Given the description of an element on the screen output the (x, y) to click on. 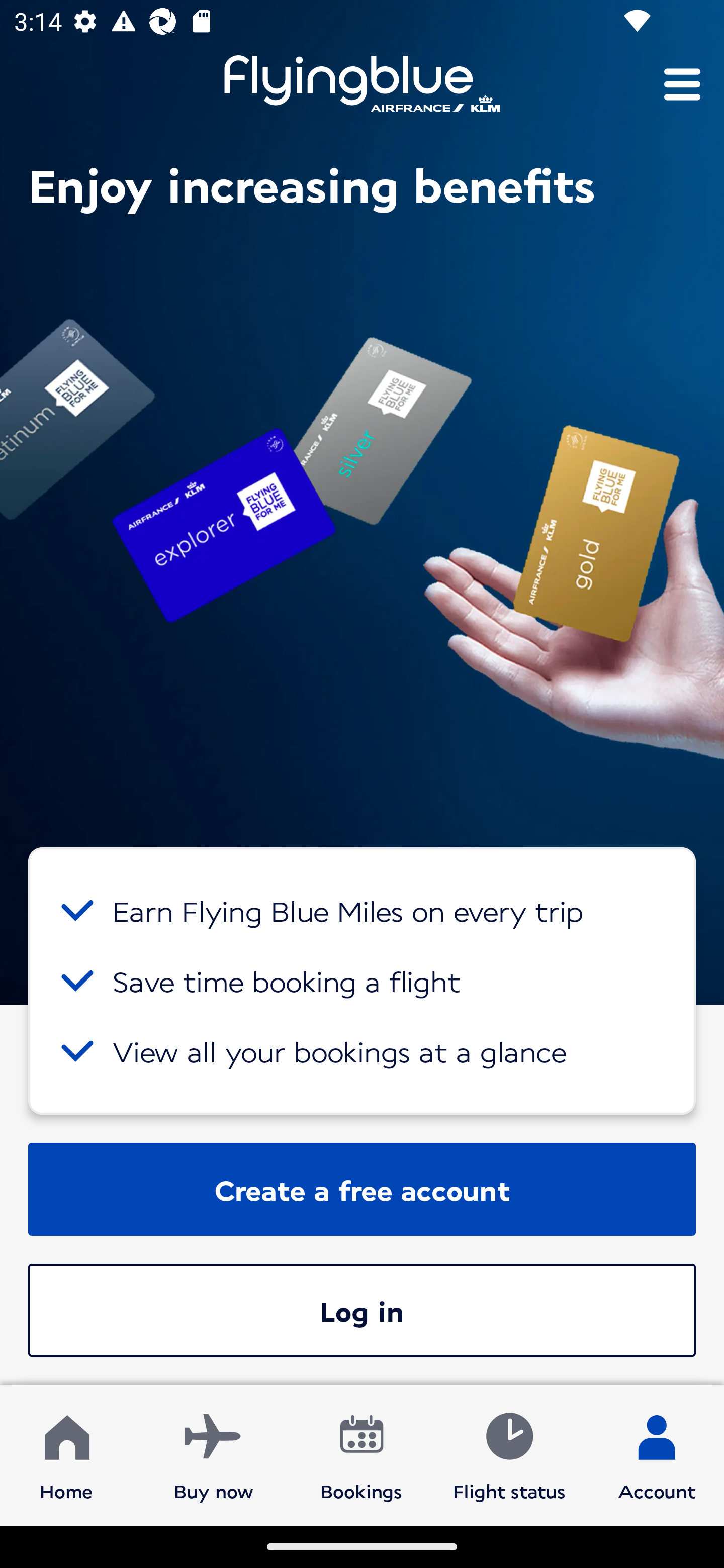
Create a free account (361, 1189)
Log in (361, 1309)
Home (66, 1454)
Buy now (213, 1454)
Bookings (361, 1454)
Flight status (509, 1454)
